Given the description of an element on the screen output the (x, y) to click on. 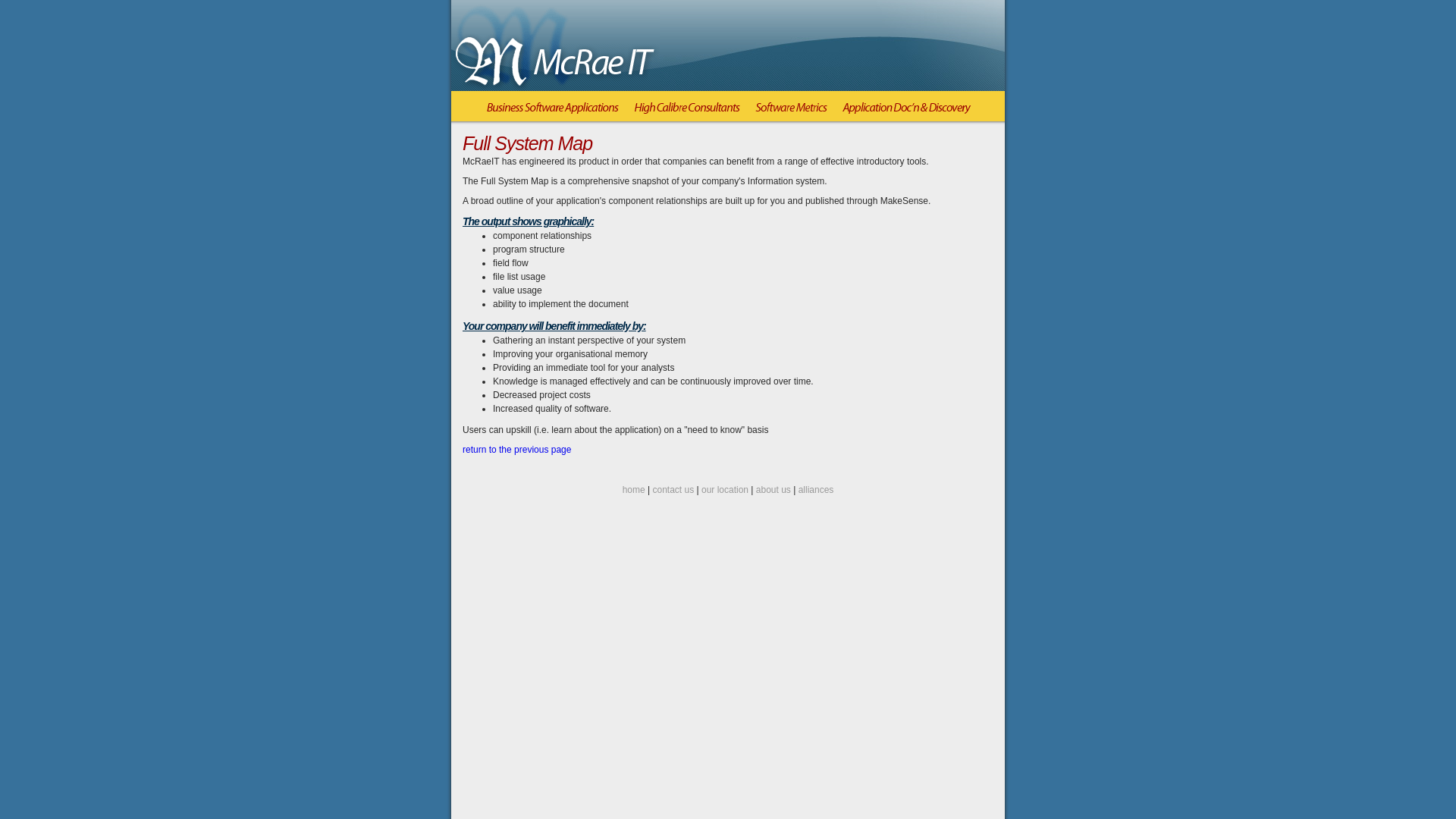
home Element type: text (633, 489)
McRae IT Element type: text (555, 47)
contact us Element type: text (672, 489)
High Calibre Consultants Element type: text (687, 111)
our location Element type: text (724, 489)
Business Software Applications Element type: text (552, 111)
about us Element type: text (773, 489)
return to the previous page Element type: text (516, 449)
Software Metrics Element type: text (791, 111)
alliances Element type: text (816, 489)
Application Doc'n & Discovery Element type: text (905, 111)
